Given the description of an element on the screen output the (x, y) to click on. 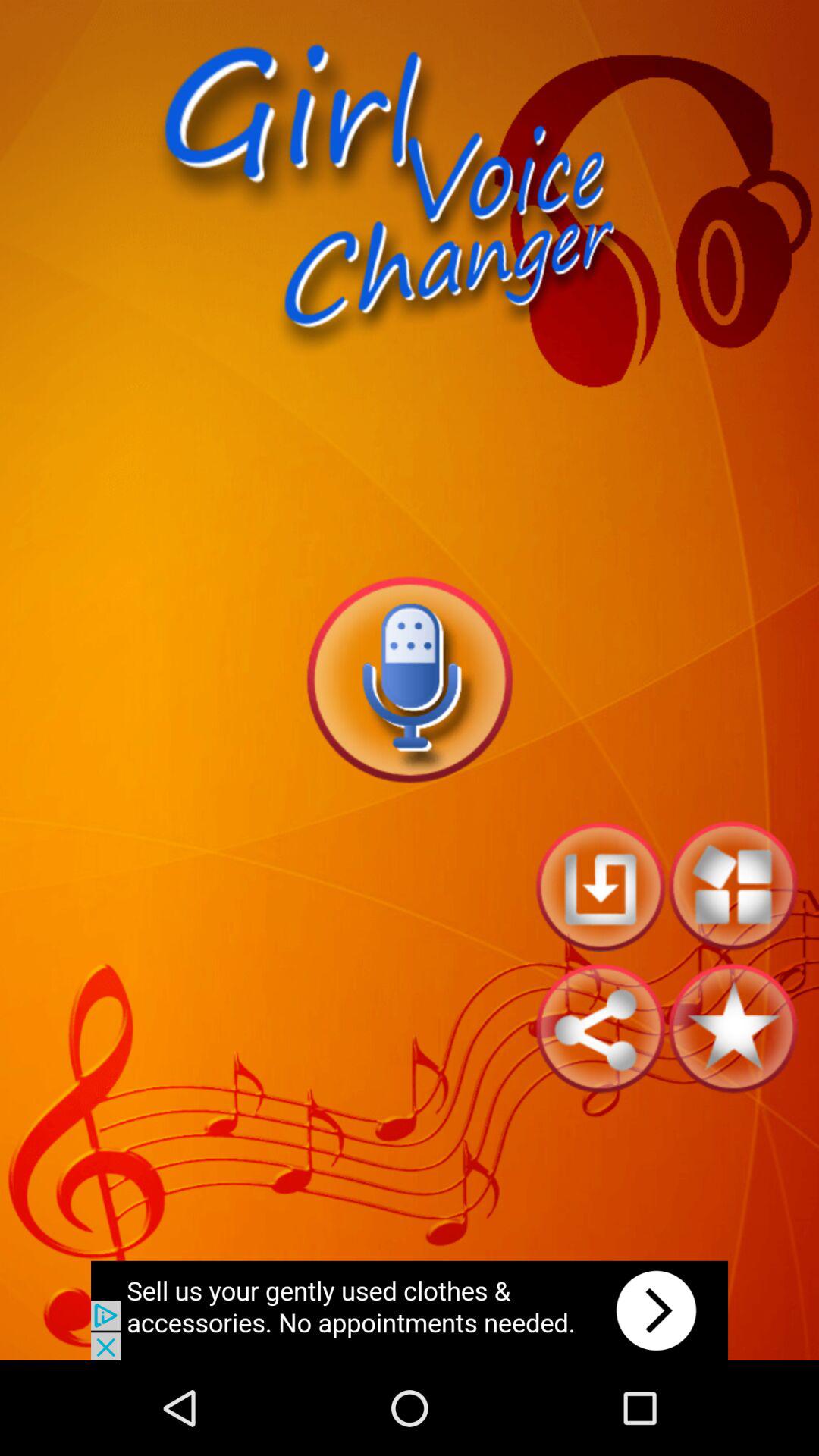
share options (600, 1028)
